Given the description of an element on the screen output the (x, y) to click on. 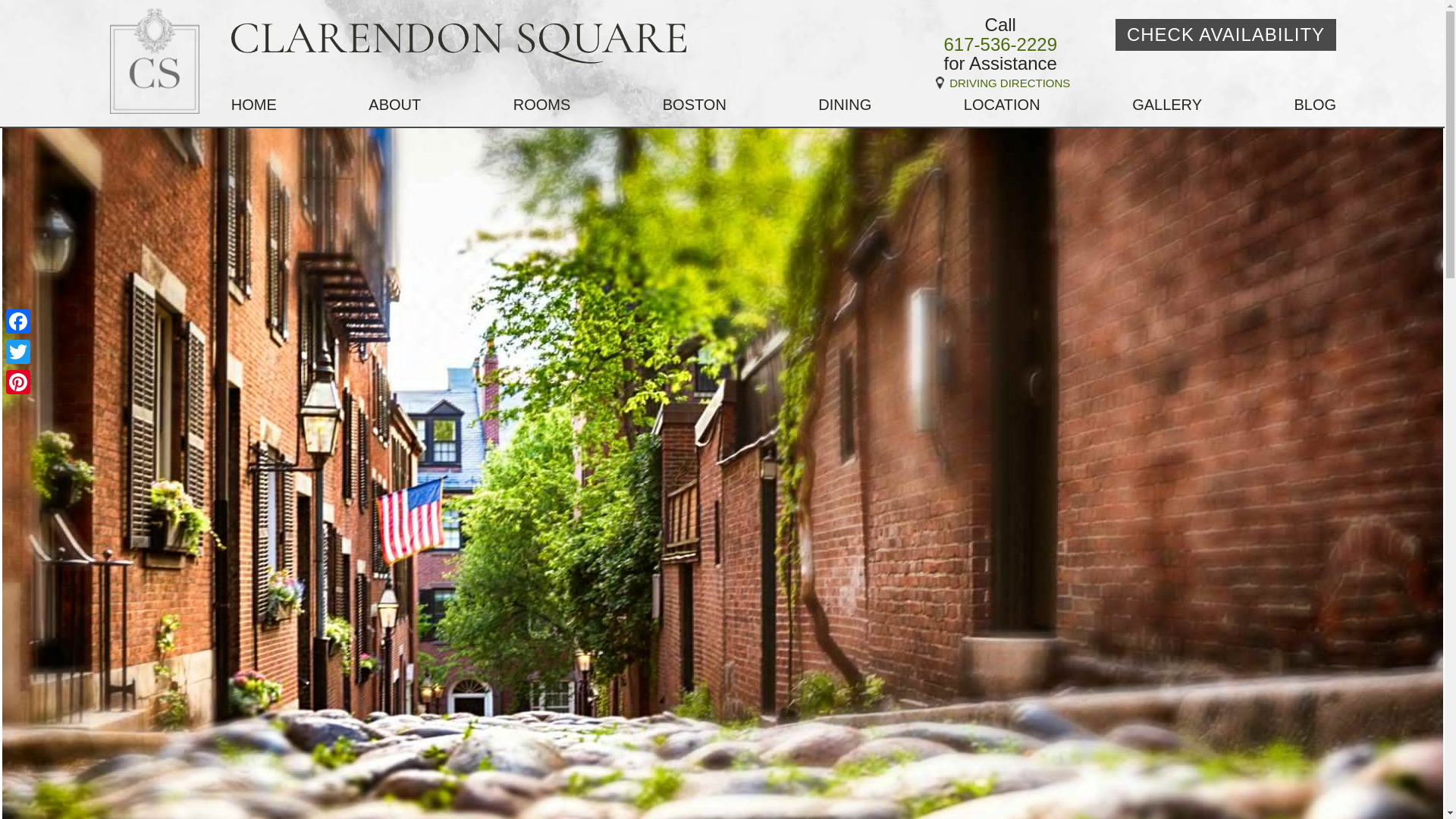
CHECK AVAILABILITY (1225, 34)
BOSTON (694, 104)
HOME (253, 104)
DRIVING DIRECTIONS (999, 82)
617-536-2229 (999, 44)
ROOMS (541, 104)
DINING (844, 104)
ABOUT (394, 104)
